Given the description of an element on the screen output the (x, y) to click on. 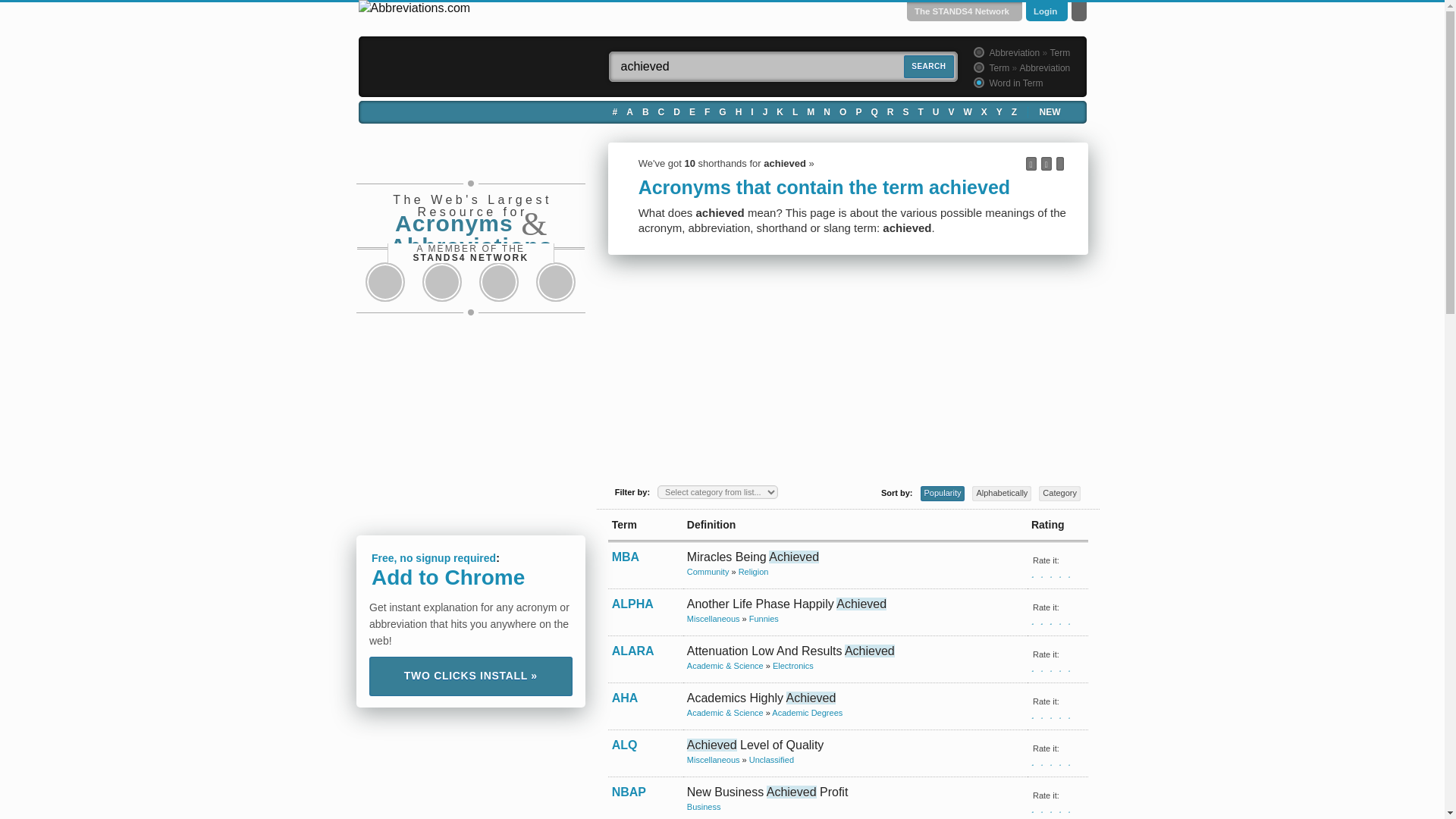
Login (1045, 10)
Share this page on Facebook (384, 282)
Share this page on Reddit (498, 282)
1 (976, 51)
achieved (782, 66)
achieved (782, 66)
SEARCH (928, 66)
Abbreviations.com (414, 8)
3 (976, 81)
2 (976, 67)
Share this page on Twitter (441, 282)
